Given the description of an element on the screen output the (x, y) to click on. 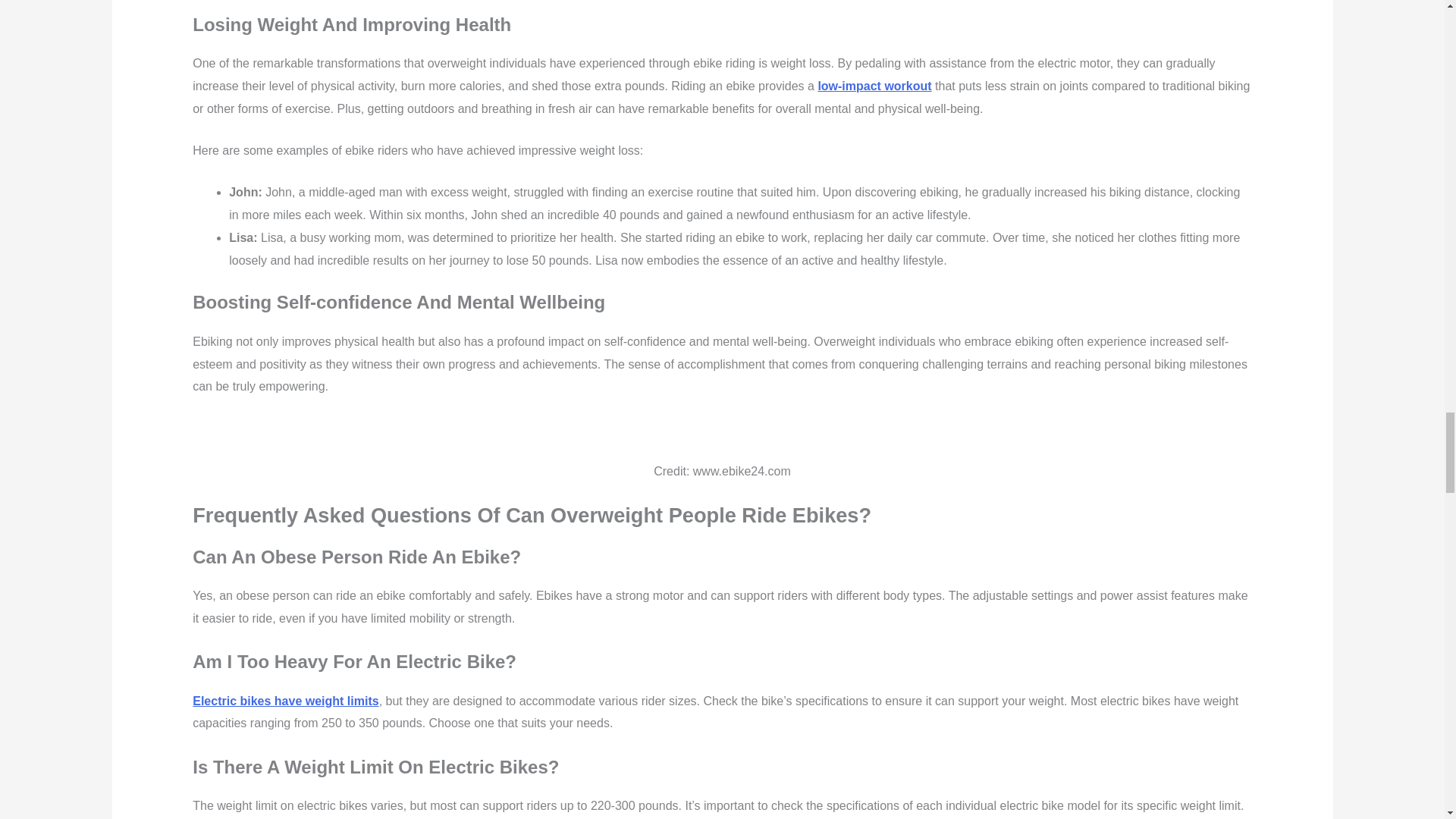
low-impact workout (873, 85)
Electric bikes have weight limits (285, 700)
